Given the description of an element on the screen output the (x, y) to click on. 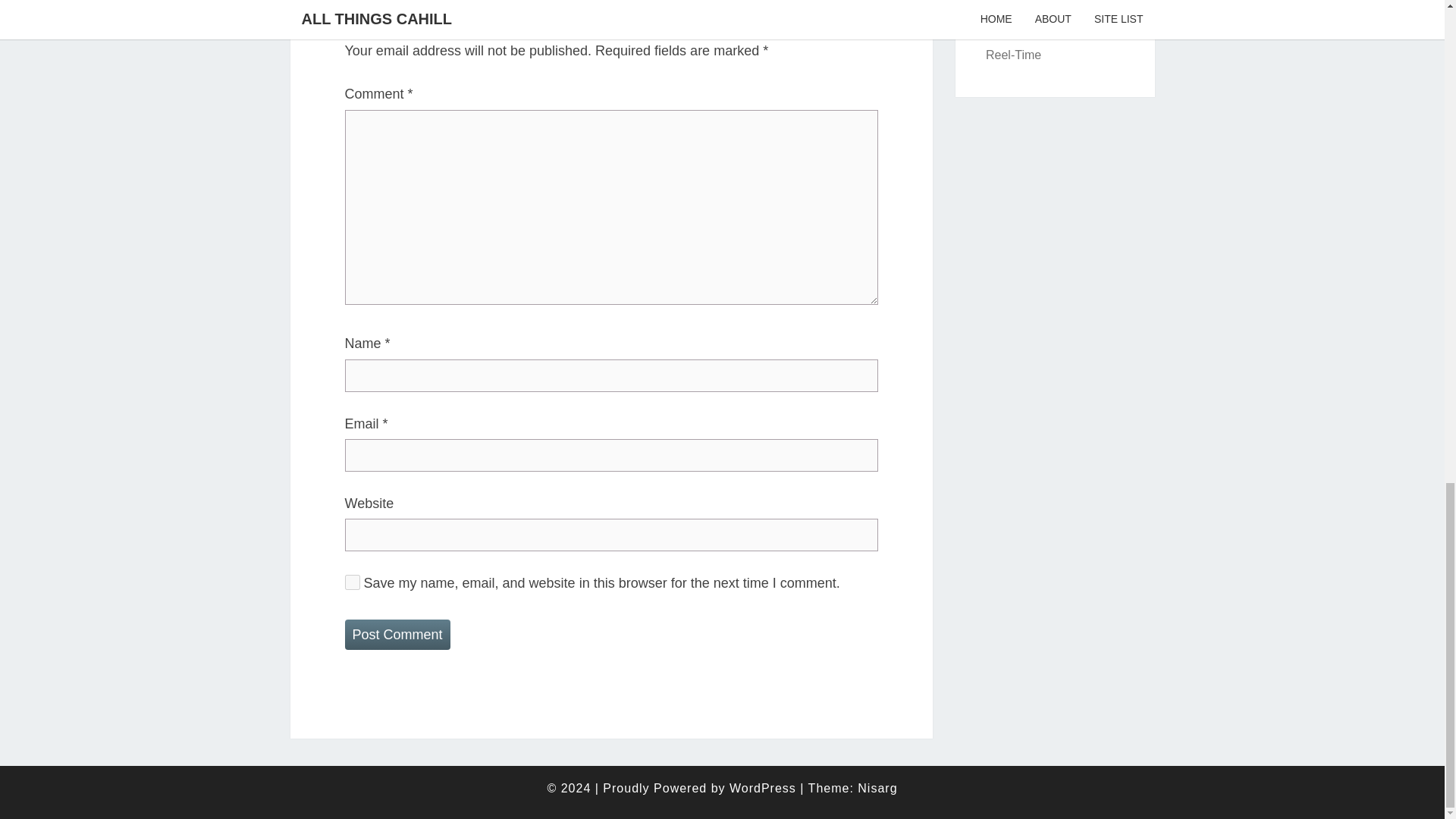
Reel-Time (1013, 54)
yes (351, 581)
Nisarg (876, 788)
Jonathan Fields (1028, 21)
Post Comment (396, 634)
The Internet Journal of Saltwater Fly Fishing (1013, 54)
Post Comment (396, 634)
WordPress (762, 788)
